Given the description of an element on the screen output the (x, y) to click on. 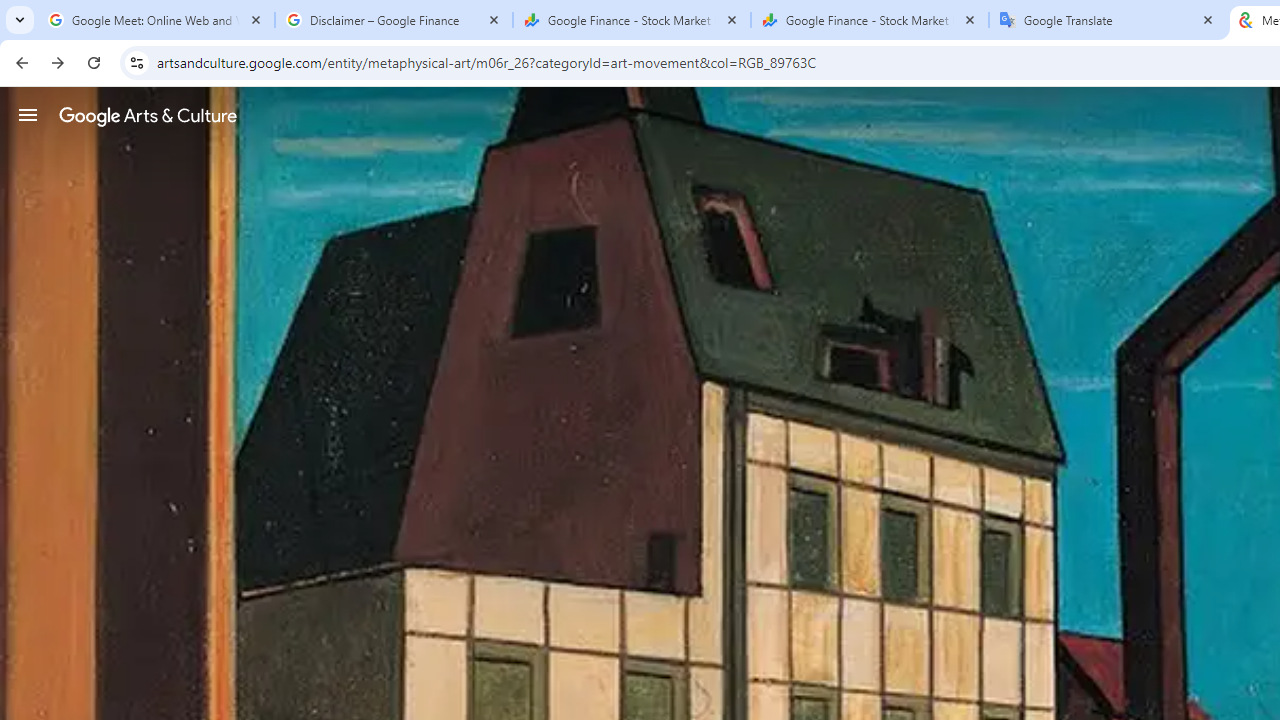
Google Translate (1108, 20)
Menu (27, 114)
Google Arts & Culture (148, 115)
